Given the description of an element on the screen output the (x, y) to click on. 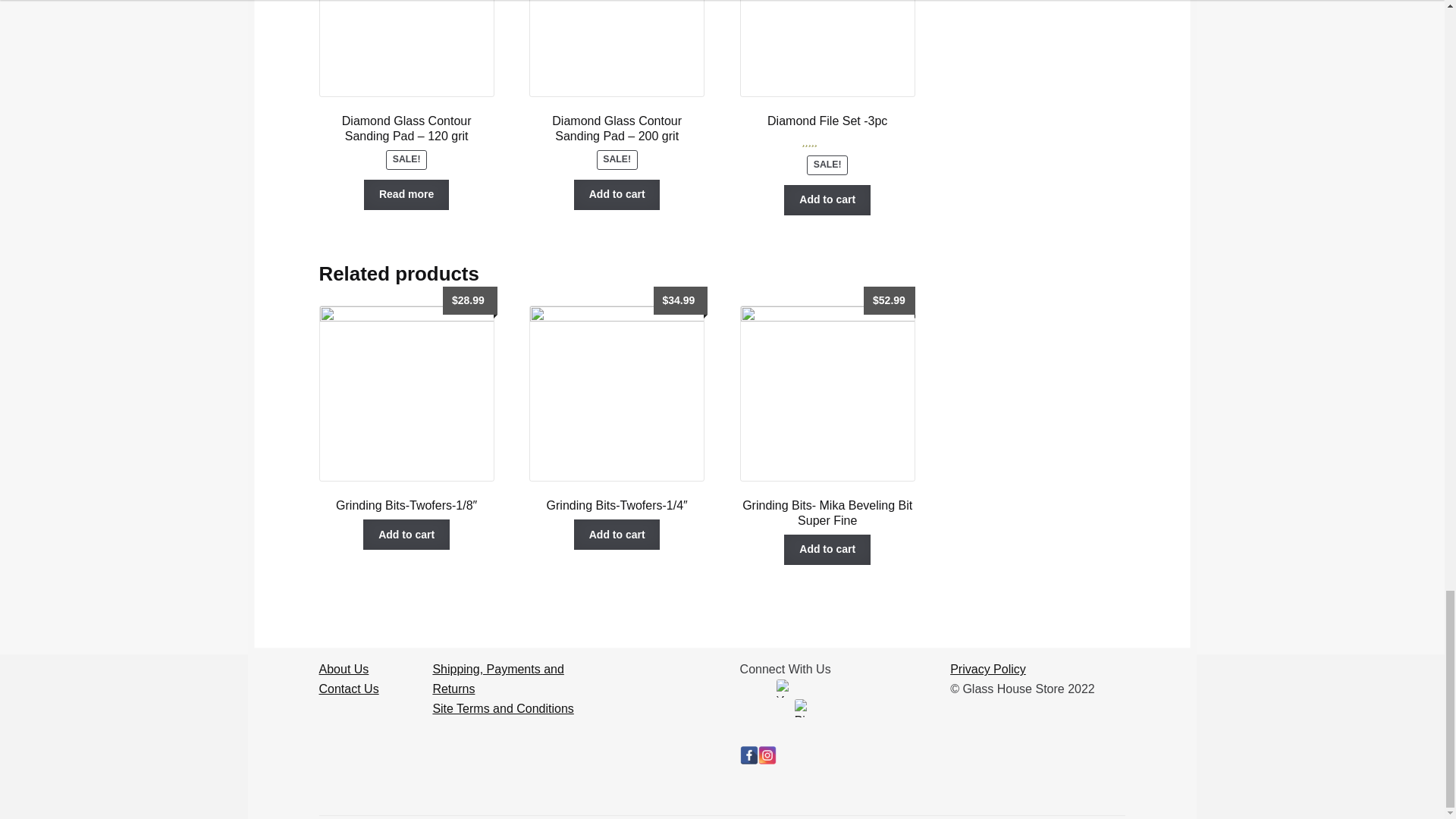
YouTube (785, 688)
Pinterest (803, 708)
Facebook (748, 755)
Instagram (767, 755)
